Given the description of an element on the screen output the (x, y) to click on. 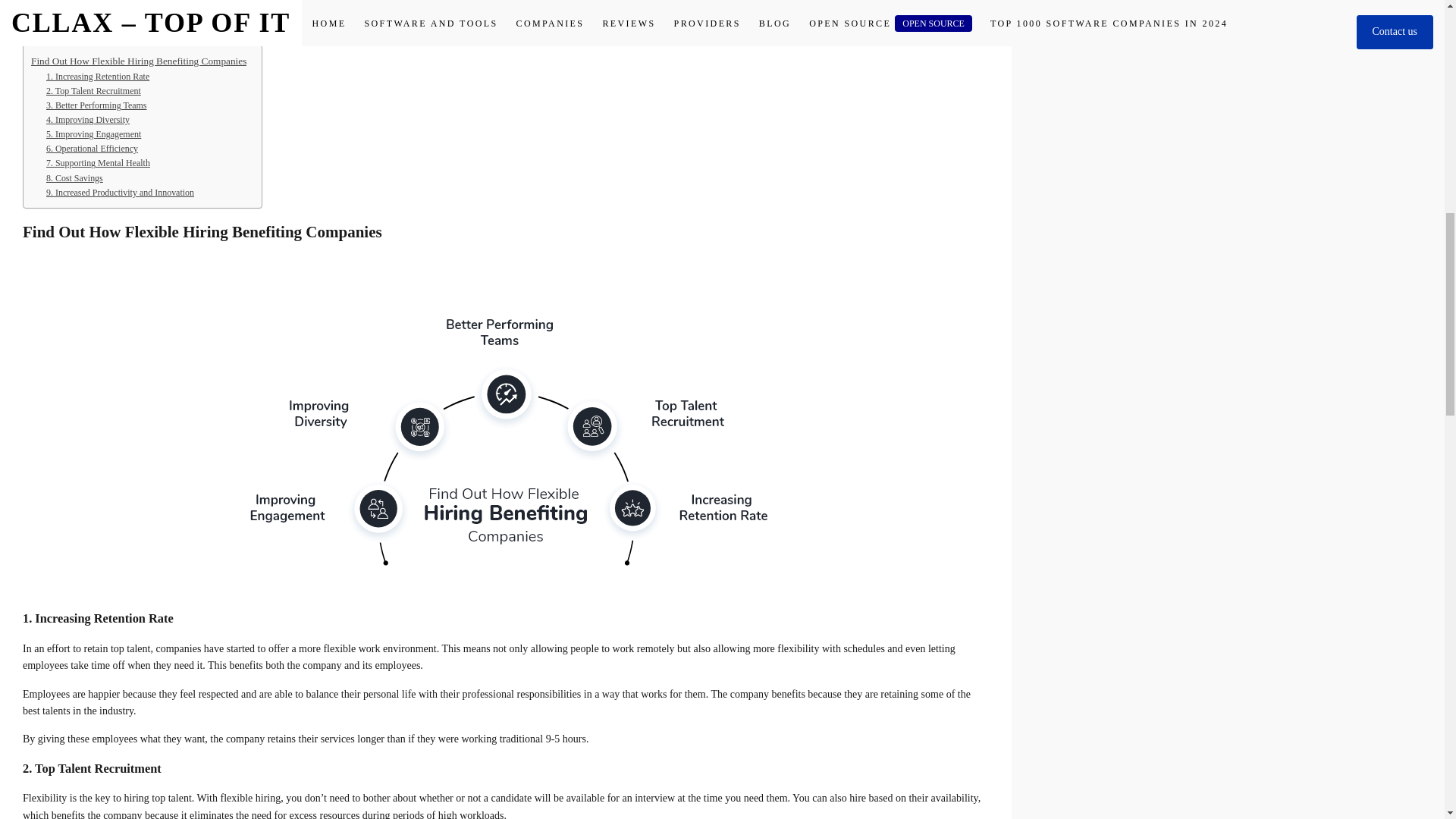
9. Increased Productivity and Innovation (119, 192)
3. Better Performing Teams (96, 105)
Find Out How Flexible Hiring Benefiting Companies (138, 60)
7. Supporting Mental Health (97, 163)
5. Improving Engagement (93, 134)
7. Supporting Mental Health (97, 163)
6. Operational Efficiency (92, 148)
6. Operational Efficiency (92, 148)
8. Cost Savings (74, 178)
4. Improving Diversity (87, 120)
2. Top Talent Recruitment (93, 91)
4. Improving Diversity (87, 120)
Find Out How Flexible Hiring Benefiting Companies (138, 60)
1. Increasing Retention Rate (97, 76)
8. Cost Savings (74, 178)
